Given the description of an element on the screen output the (x, y) to click on. 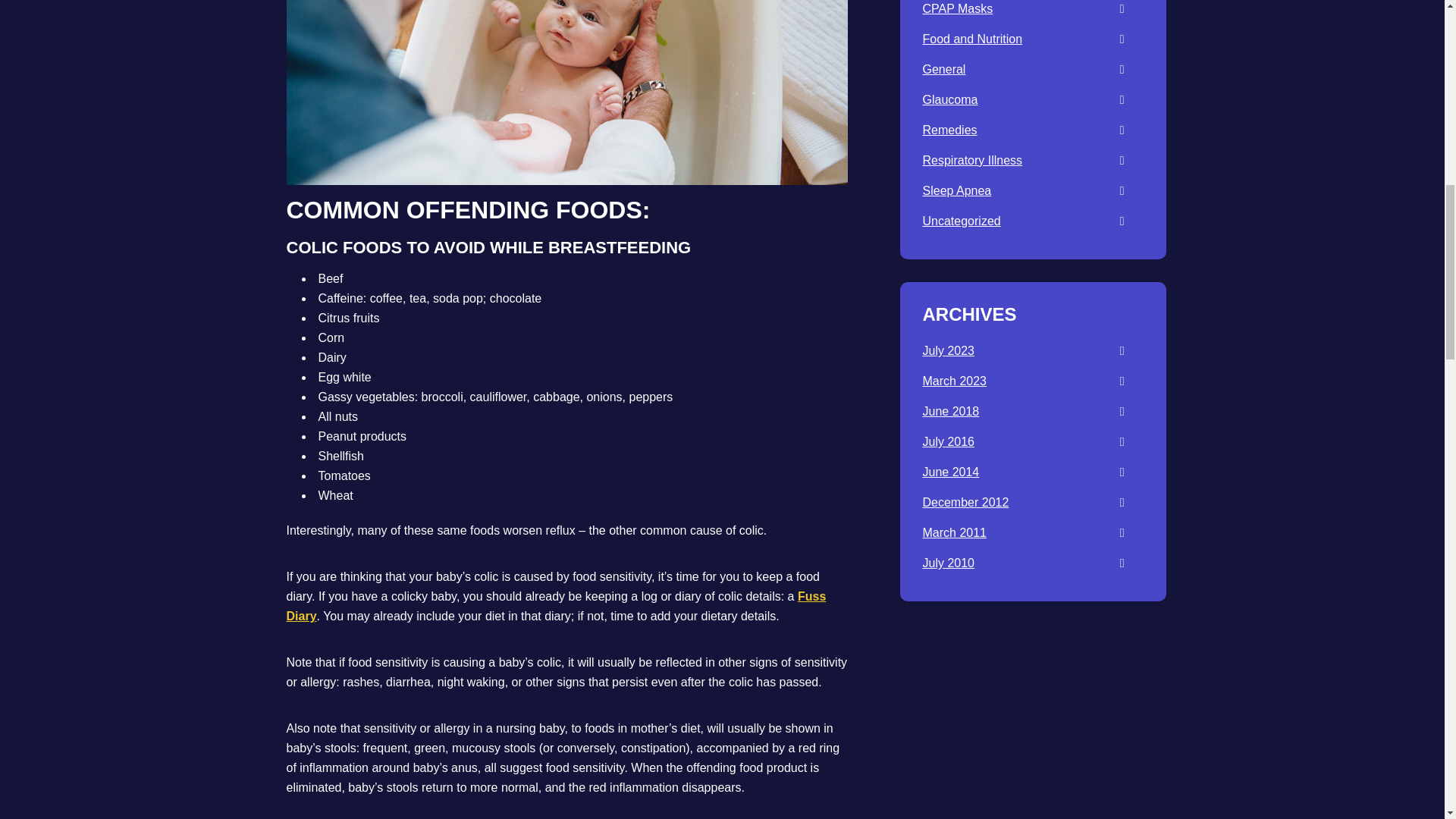
Fuss Diary (556, 605)
